Given the description of an element on the screen output the (x, y) to click on. 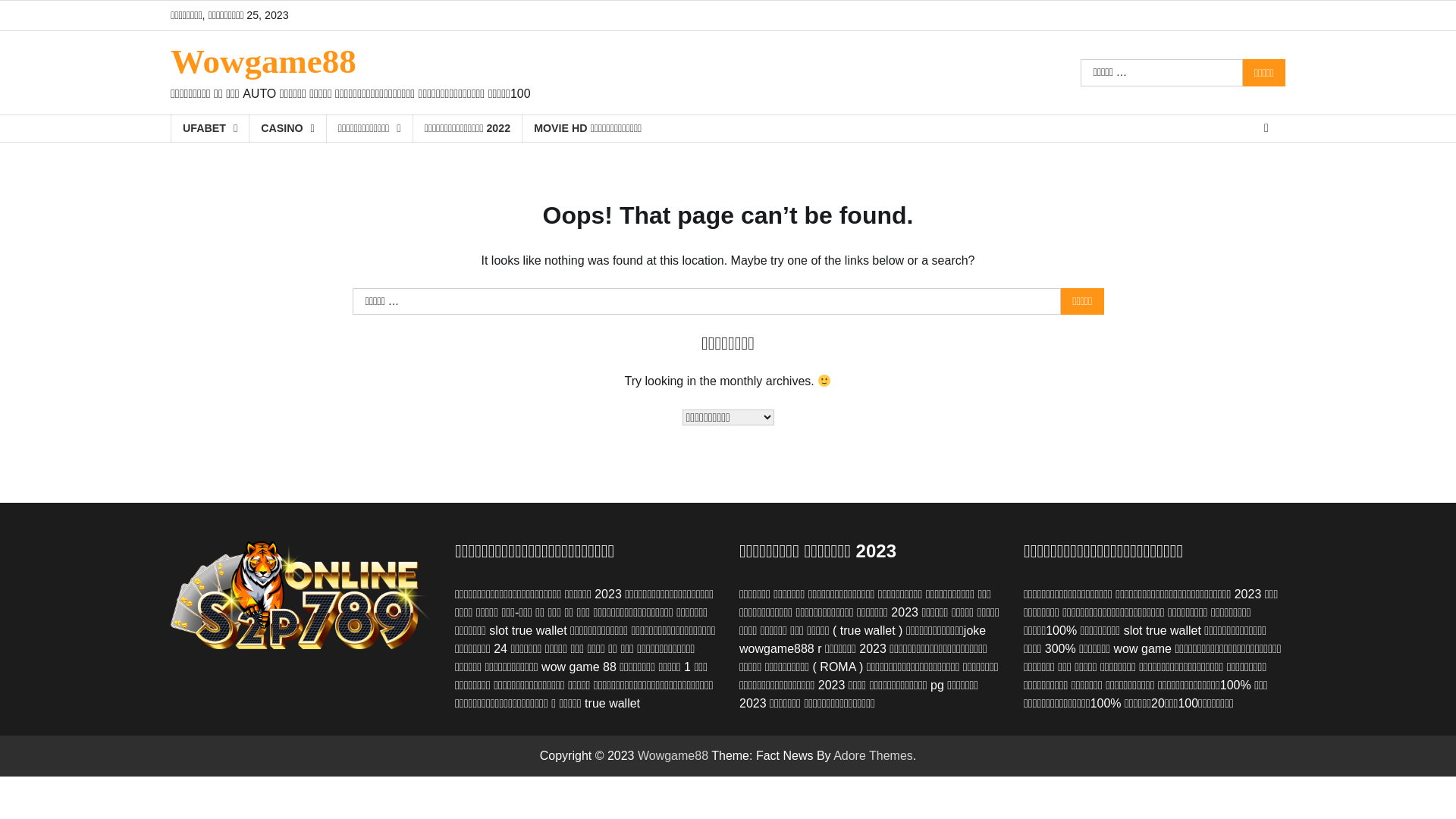
View Random Post Element type: hover (1266, 127)
Adore Themes Element type: text (873, 755)
CASINO Element type: text (287, 128)
Wowgame88 Element type: text (263, 61)
UFABET Element type: text (209, 128)
Wowgame88 Element type: text (672, 755)
